Given the description of an element on the screen output the (x, y) to click on. 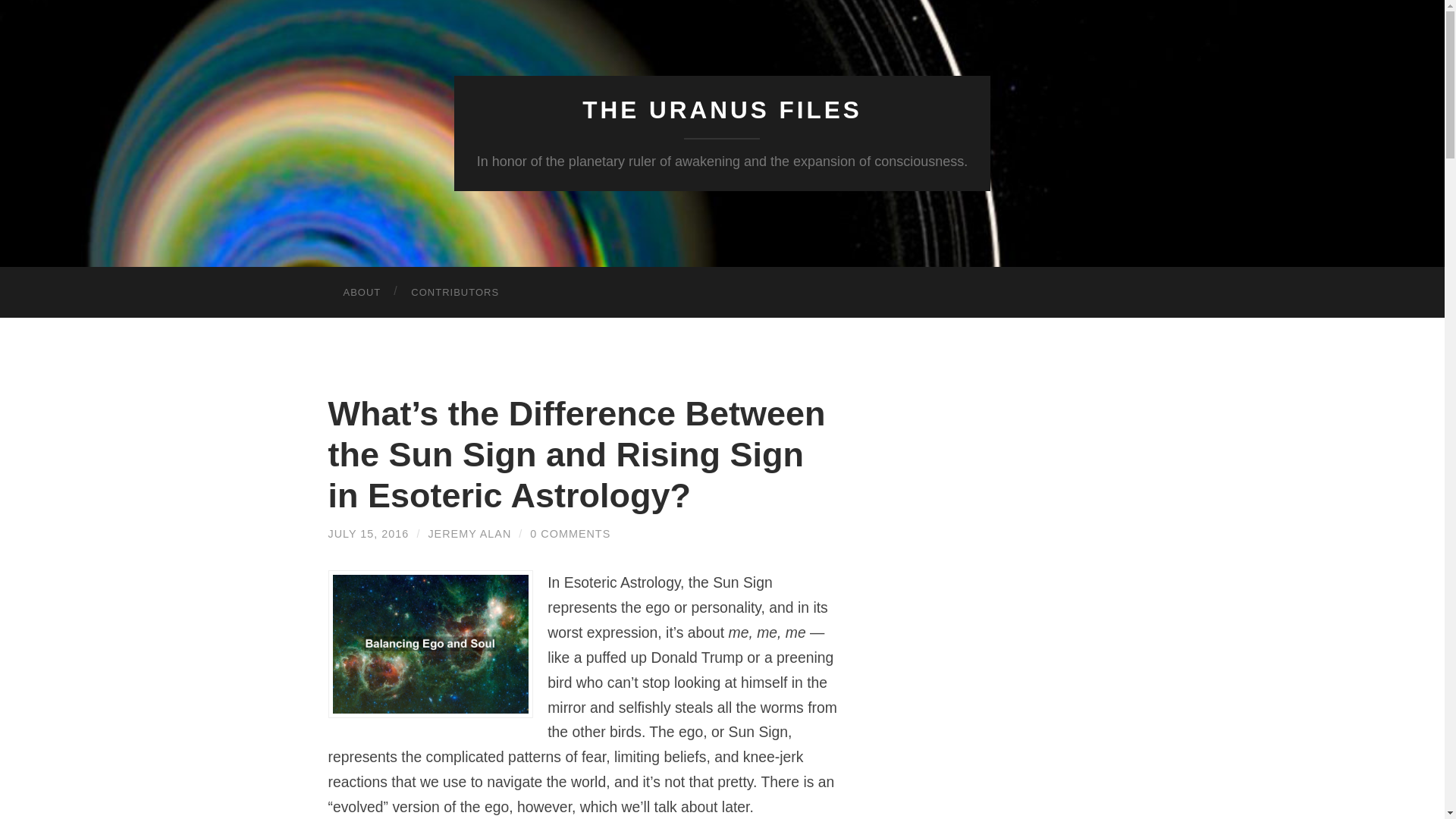
CONTRIBUTORS (454, 291)
THE URANUS FILES (721, 109)
0 COMMENTS (569, 533)
JULY 15, 2016 (368, 533)
Posts by Jeremy Alan (469, 533)
JEREMY ALAN (469, 533)
ABOUT (361, 291)
